Given the description of an element on the screen output the (x, y) to click on. 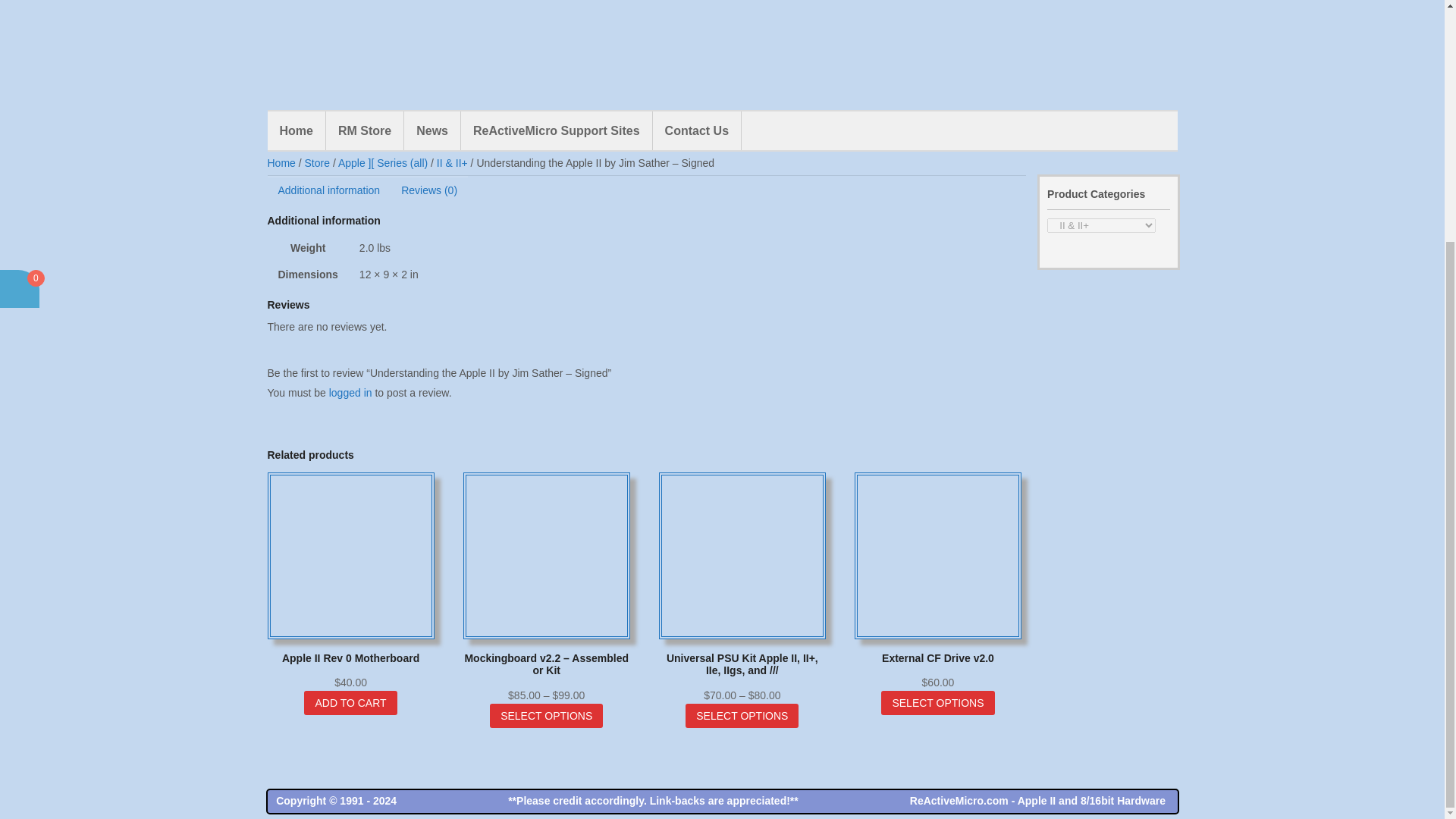
ADD TO CART (635, 115)
1 (553, 114)
Additional information (328, 189)
ADD TO CART (350, 702)
logged in (350, 392)
SELECT OPTIONS (545, 715)
